Given the description of an element on the screen output the (x, y) to click on. 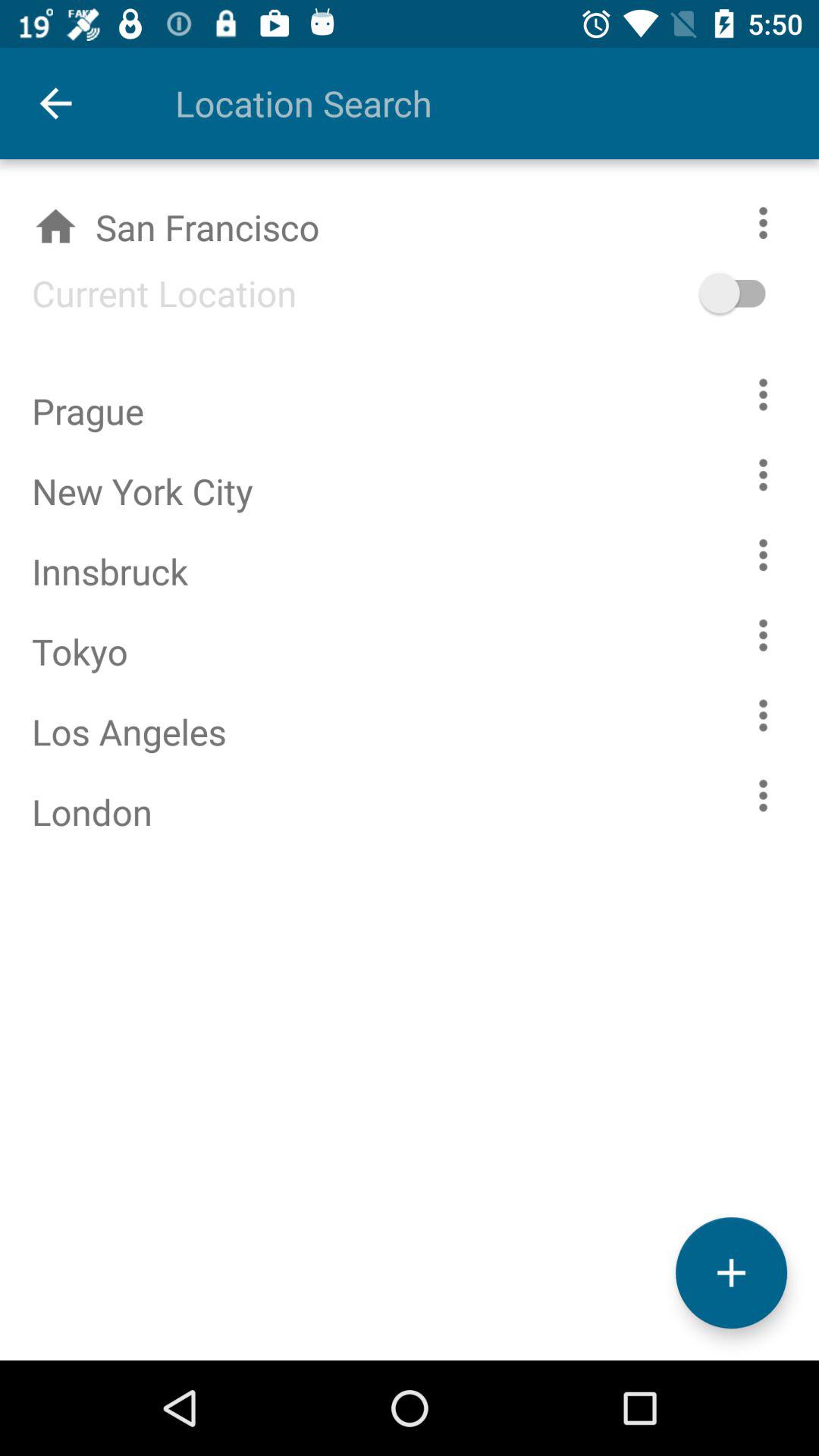
click icon to the right of san francisco icon (755, 293)
